Given the description of an element on the screen output the (x, y) to click on. 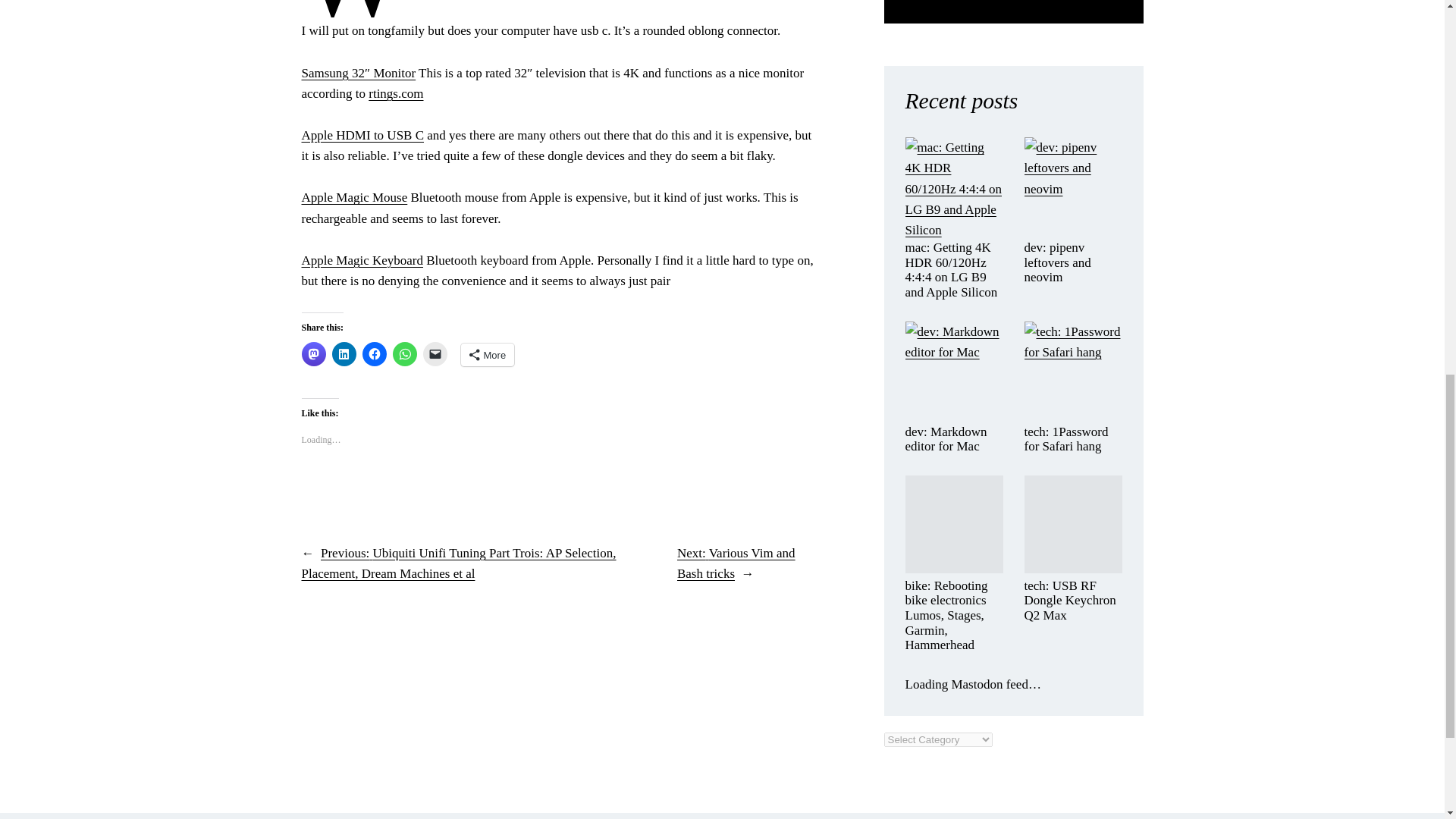
Click to share on Mastodon (313, 354)
Click to share on Facebook (374, 354)
Apple Magic Keyboard (362, 260)
Apple HDMI to USB C (363, 134)
Click to share on LinkedIn (343, 354)
rtings.com (395, 93)
More (488, 354)
Click to email a link to a friend (434, 354)
Next: Various Vim and Bash tricks (735, 563)
